Given the description of an element on the screen output the (x, y) to click on. 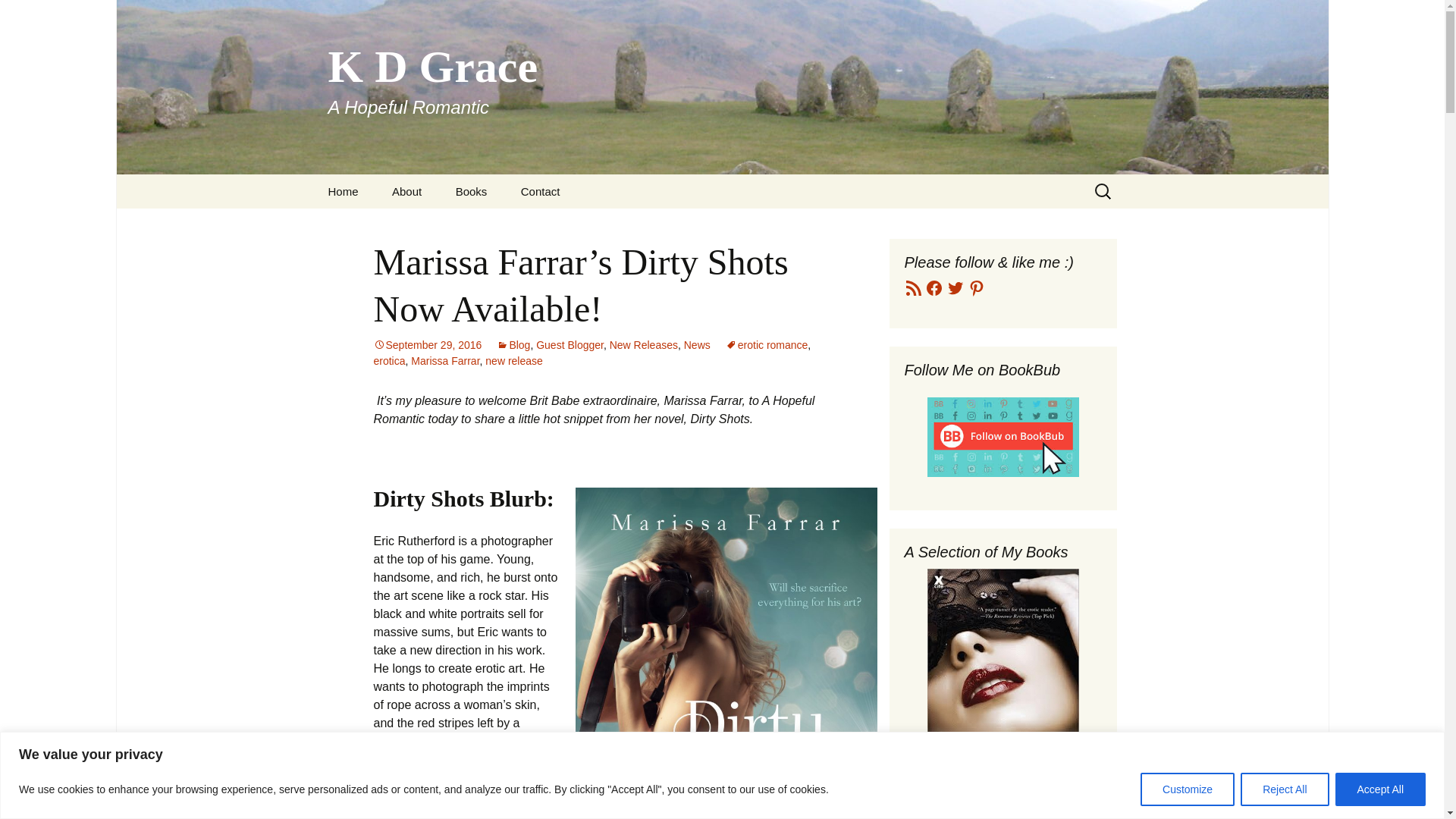
K D Grace (516, 225)
Marissa Farrar (444, 360)
new release (697, 345)
Blog (513, 360)
New Releases (512, 345)
Guest Blogger (644, 345)
September 29, 2016 (569, 345)
Customize (426, 345)
Home (1187, 788)
Books (342, 191)
Search (471, 191)
Contact (18, 15)
Skip to content (540, 191)
